Given the description of an element on the screen output the (x, y) to click on. 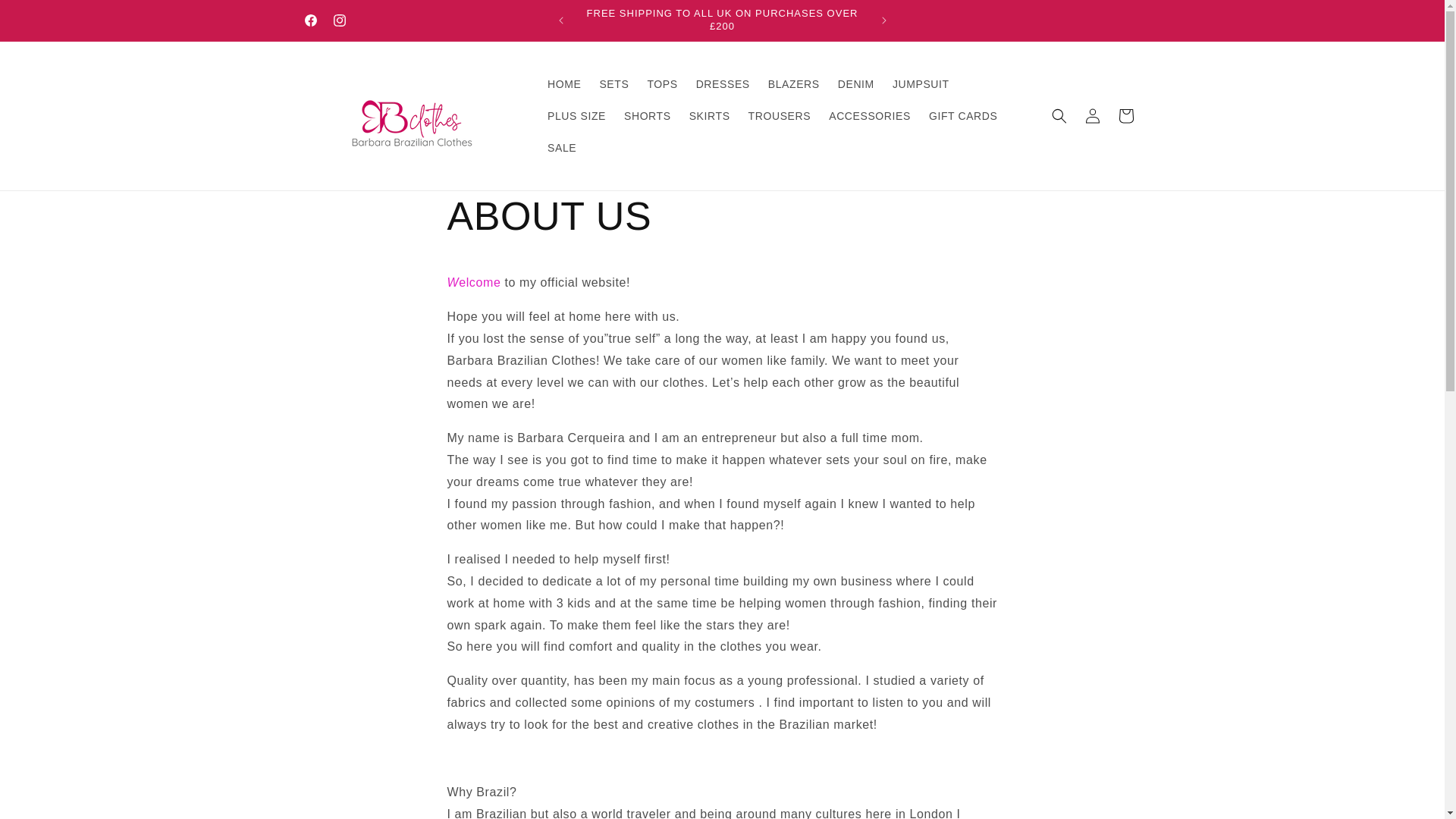
GIFT CARDS (963, 115)
DRESSES (722, 83)
BLAZERS (793, 83)
Instagram (338, 20)
TOPS (661, 83)
DENIM (855, 83)
HOME (563, 83)
SALE (561, 147)
SETS (613, 83)
Skip to content (45, 17)
ACCESSORIES (869, 115)
TROUSERS (780, 115)
SHORTS (646, 115)
PLUS SIZE (576, 115)
Facebook (309, 20)
